Given the description of an element on the screen output the (x, y) to click on. 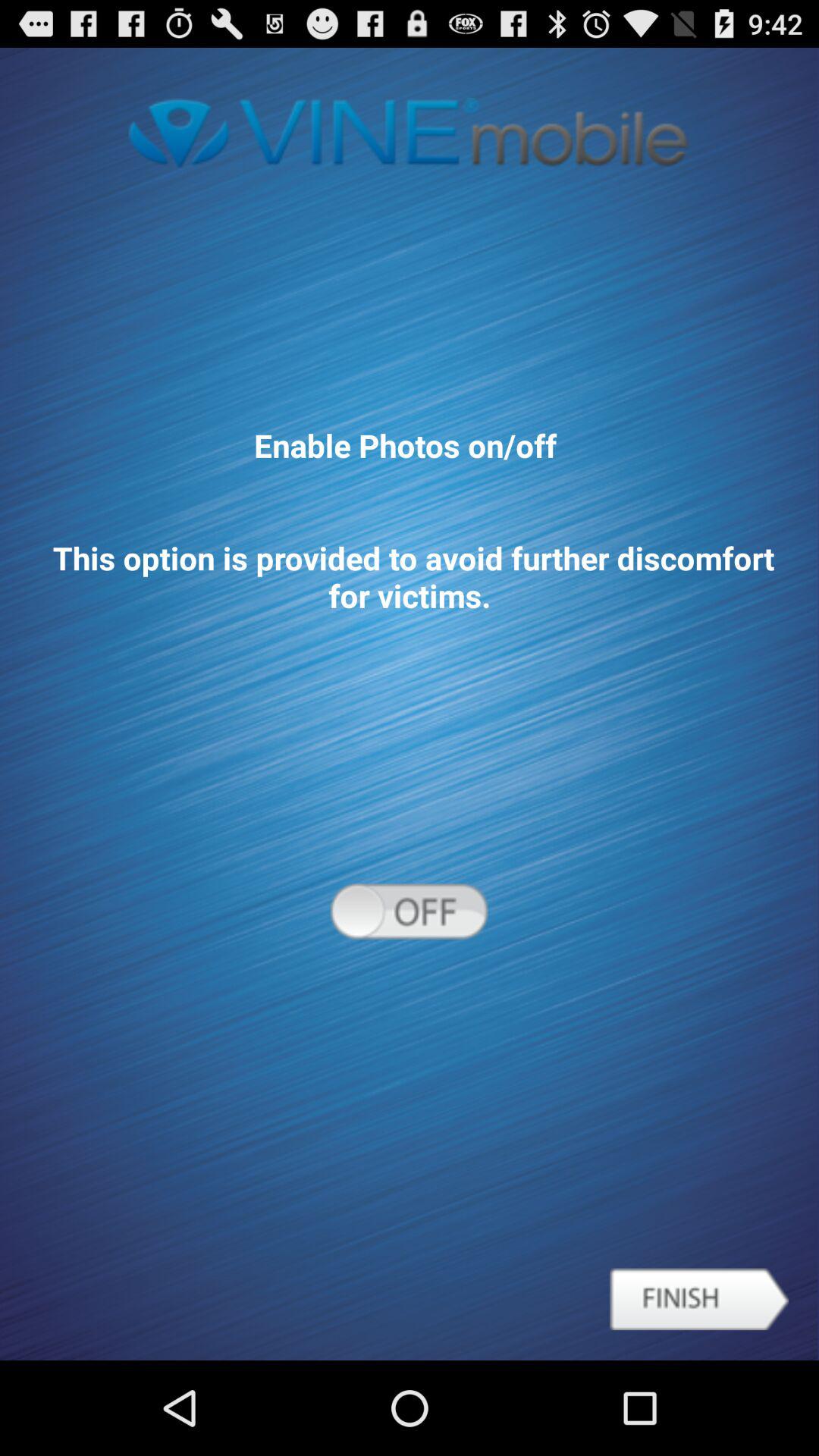
choose icon below enable photos on item (698, 1299)
